Given the description of an element on the screen output the (x, y) to click on. 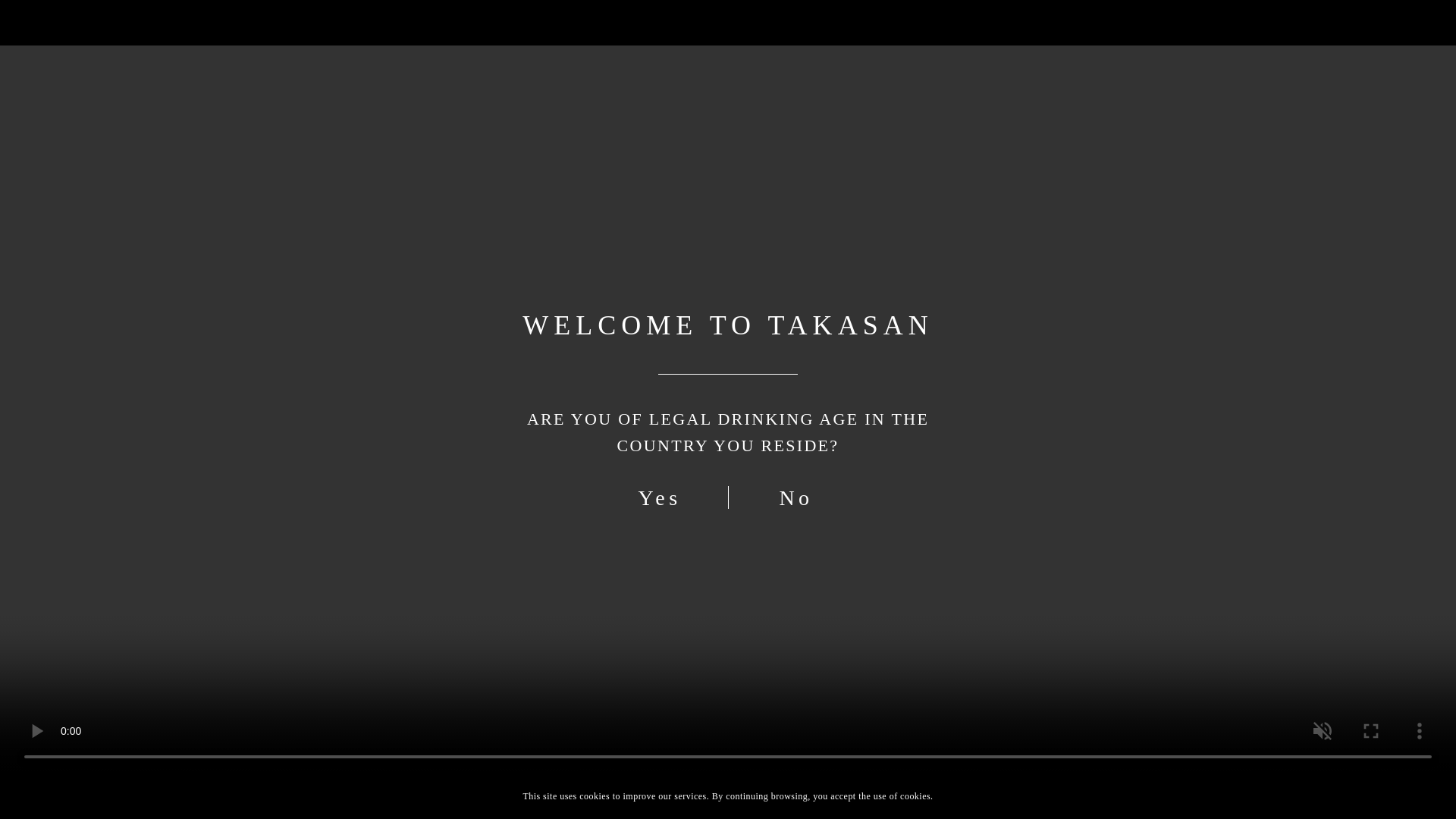
ADD TO CART (1075, 721)
LOG IN (1094, 30)
SPARKLING (874, 192)
1 (881, 716)
MENU (1189, 30)
CART (1142, 30)
